Given the description of an element on the screen output the (x, y) to click on. 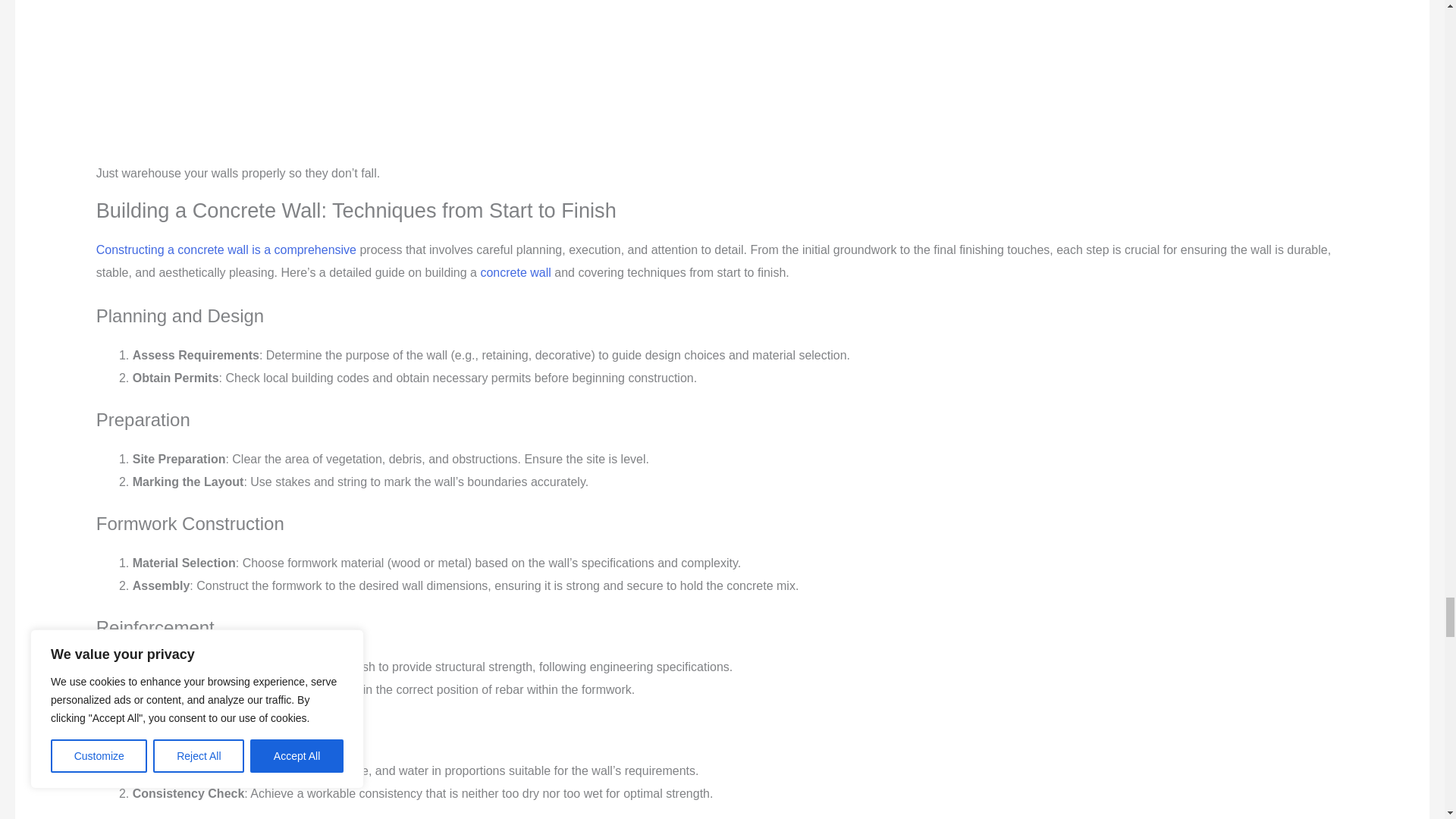
Constructing a concrete wall is a comprehensive (226, 249)
concrete wall (515, 272)
